Given the description of an element on the screen output the (x, y) to click on. 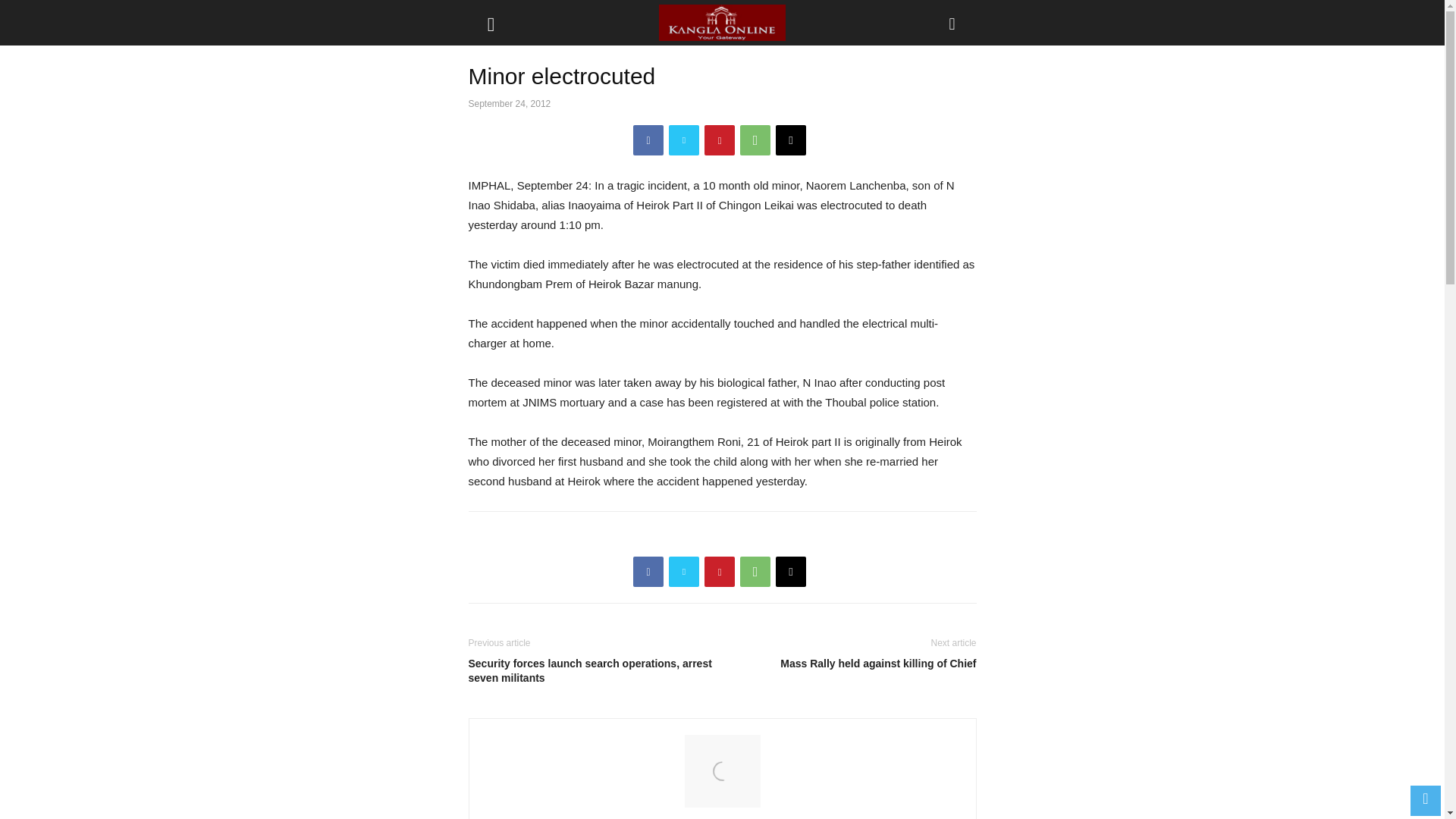
Mass Rally held against killing of Chief (852, 663)
